Given the description of an element on the screen output the (x, y) to click on. 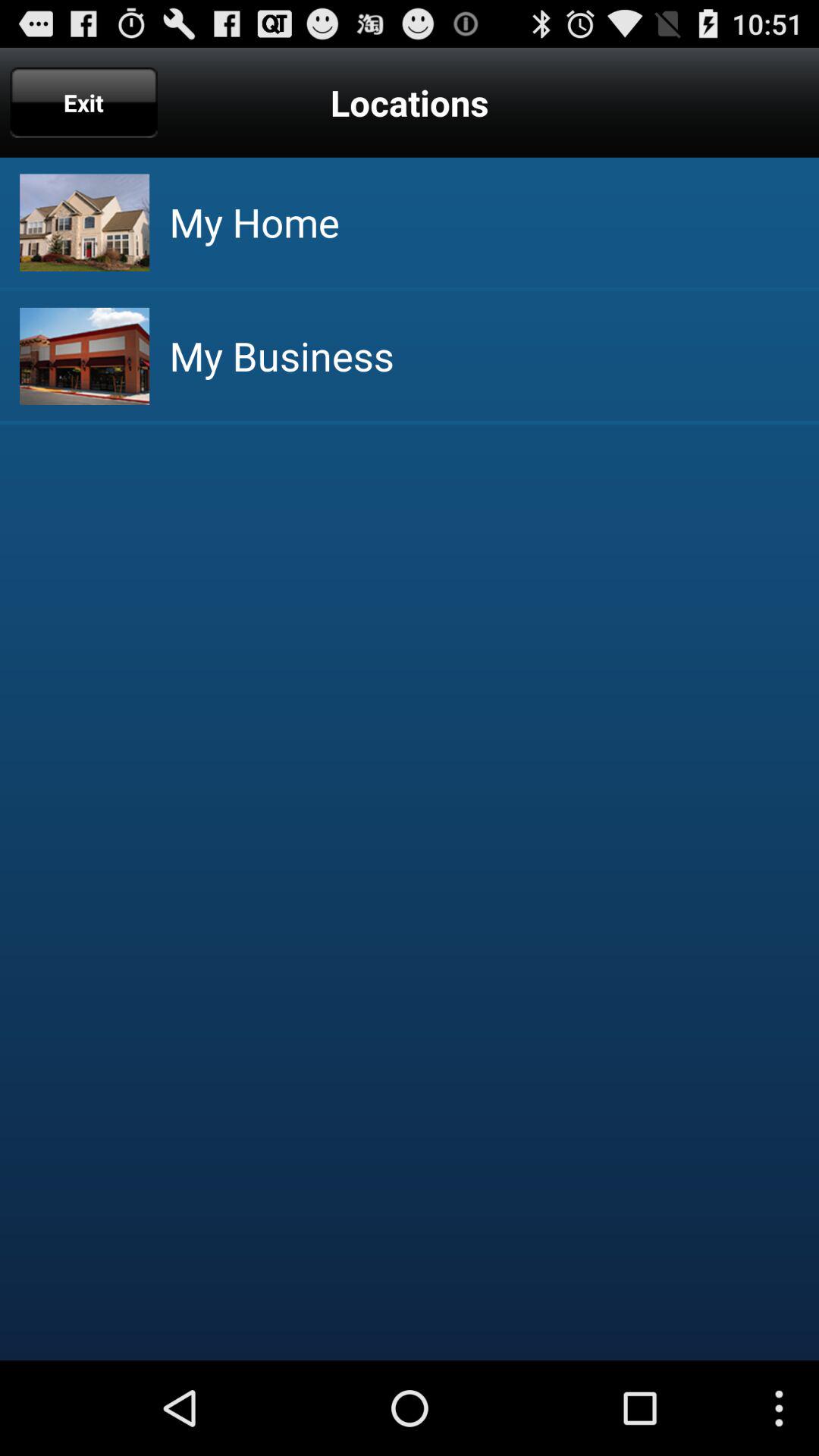
swipe to exit (83, 102)
